Given the description of an element on the screen output the (x, y) to click on. 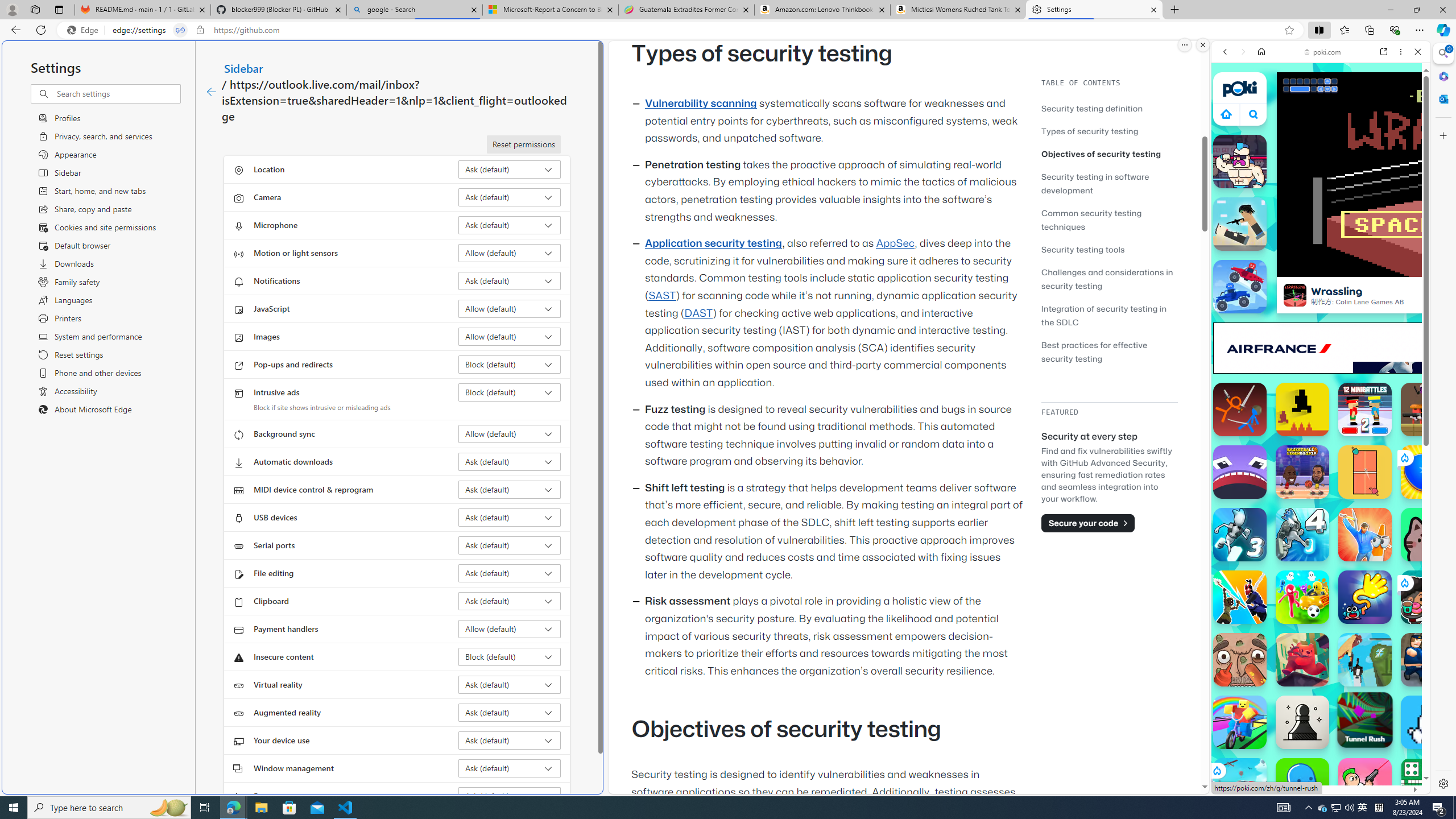
Temple of Boom (1427, 409)
Simply Prop Hunt Simply Prop Hunt (1364, 534)
Integration of security testing in the SDLC (1109, 315)
Application security testing (713, 243)
Swingo Swingo (1364, 597)
Poor Bunny (1427, 722)
Rowdy Wrestling (1239, 161)
Two Player Games (1320, 323)
